Given the description of an element on the screen output the (x, y) to click on. 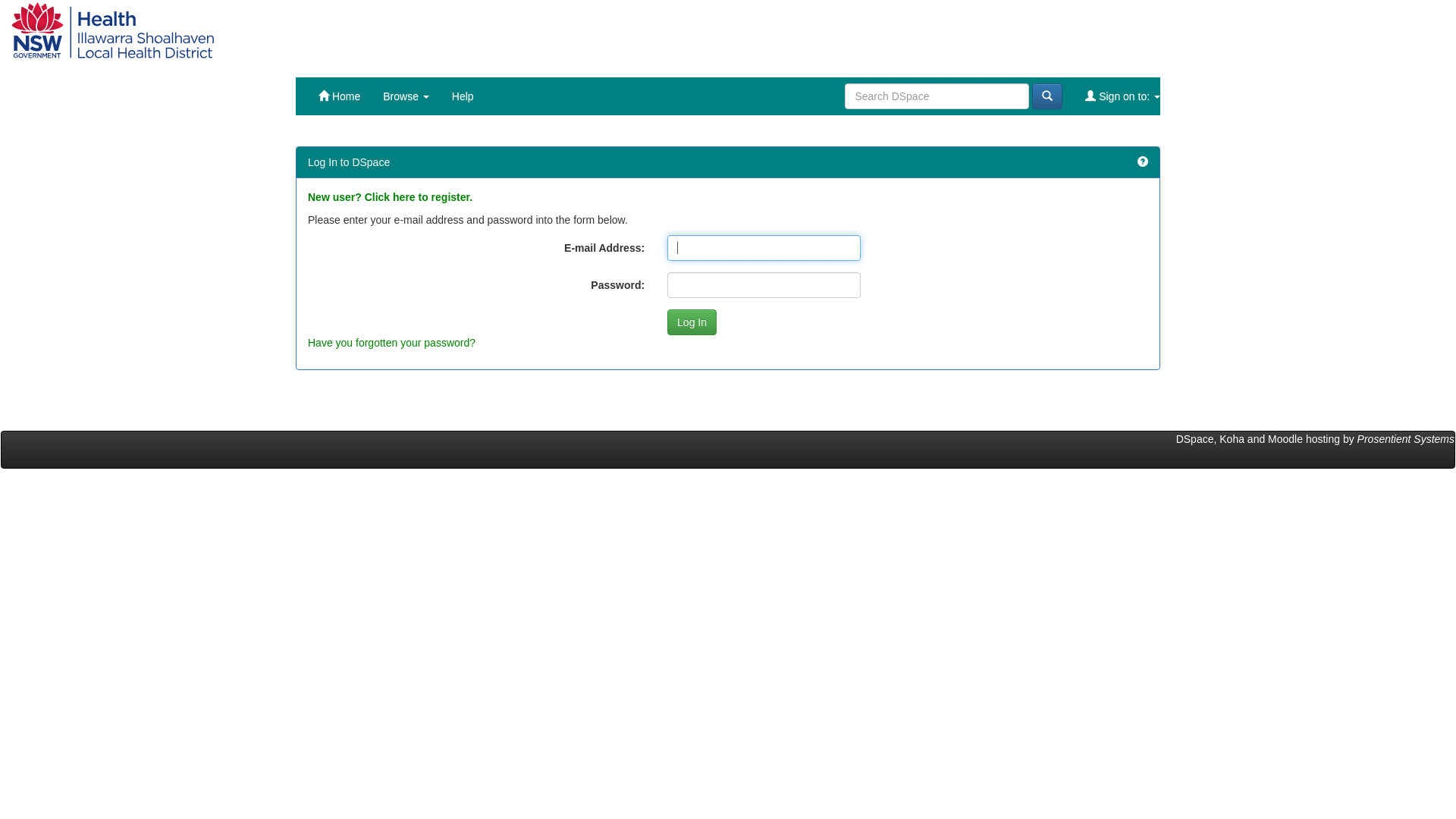
New user? Click here to register. Element type: text (389, 197)
Sign on to: Element type: text (1122, 96)
Home Element type: text (339, 96)
Help Element type: text (462, 96)
Prosentient Systems Element type: text (1405, 439)
Browse Element type: text (405, 96)
Log In Element type: text (691, 322)
Have you forgotten your password? Element type: text (391, 342)
